Given the description of an element on the screen output the (x, y) to click on. 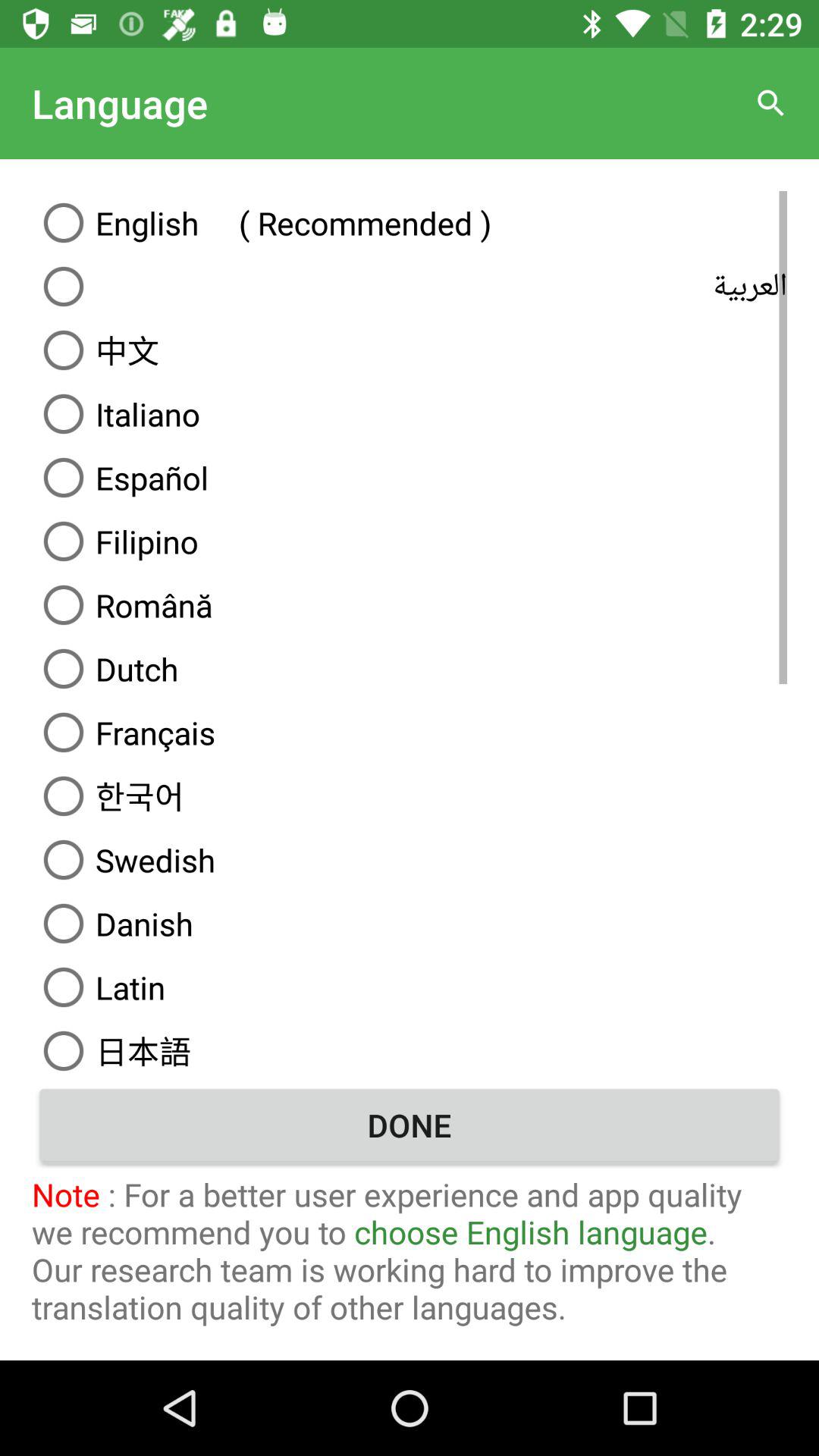
click the icon below italiano icon (409, 477)
